Given the description of an element on the screen output the (x, y) to click on. 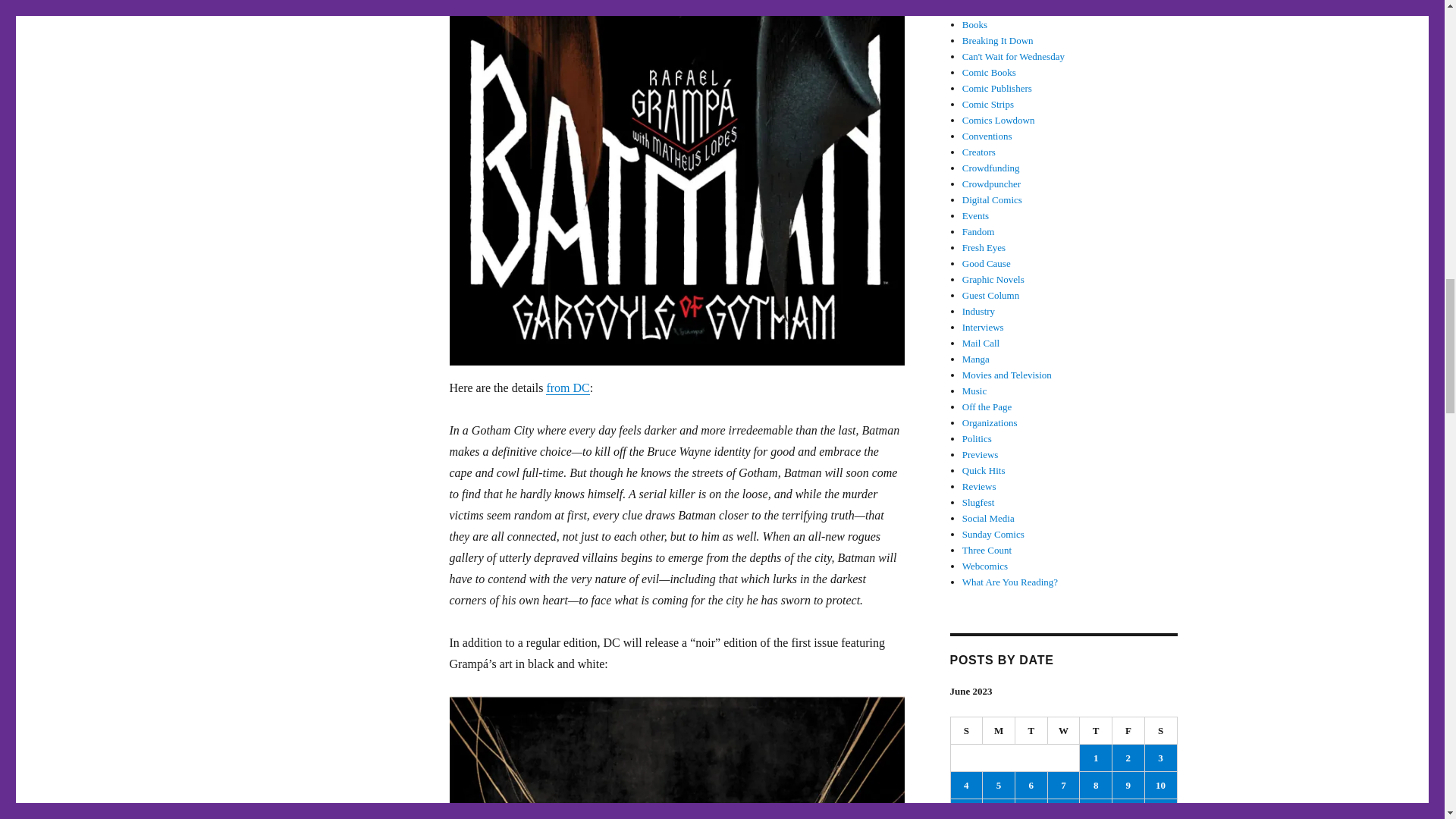
Monday (998, 730)
from DC (567, 387)
Saturday (1160, 730)
Sunday (967, 730)
Wednesday (1064, 730)
Friday (1128, 730)
Thursday (1096, 730)
Tuesday (1031, 730)
